Given the description of an element on the screen output the (x, y) to click on. 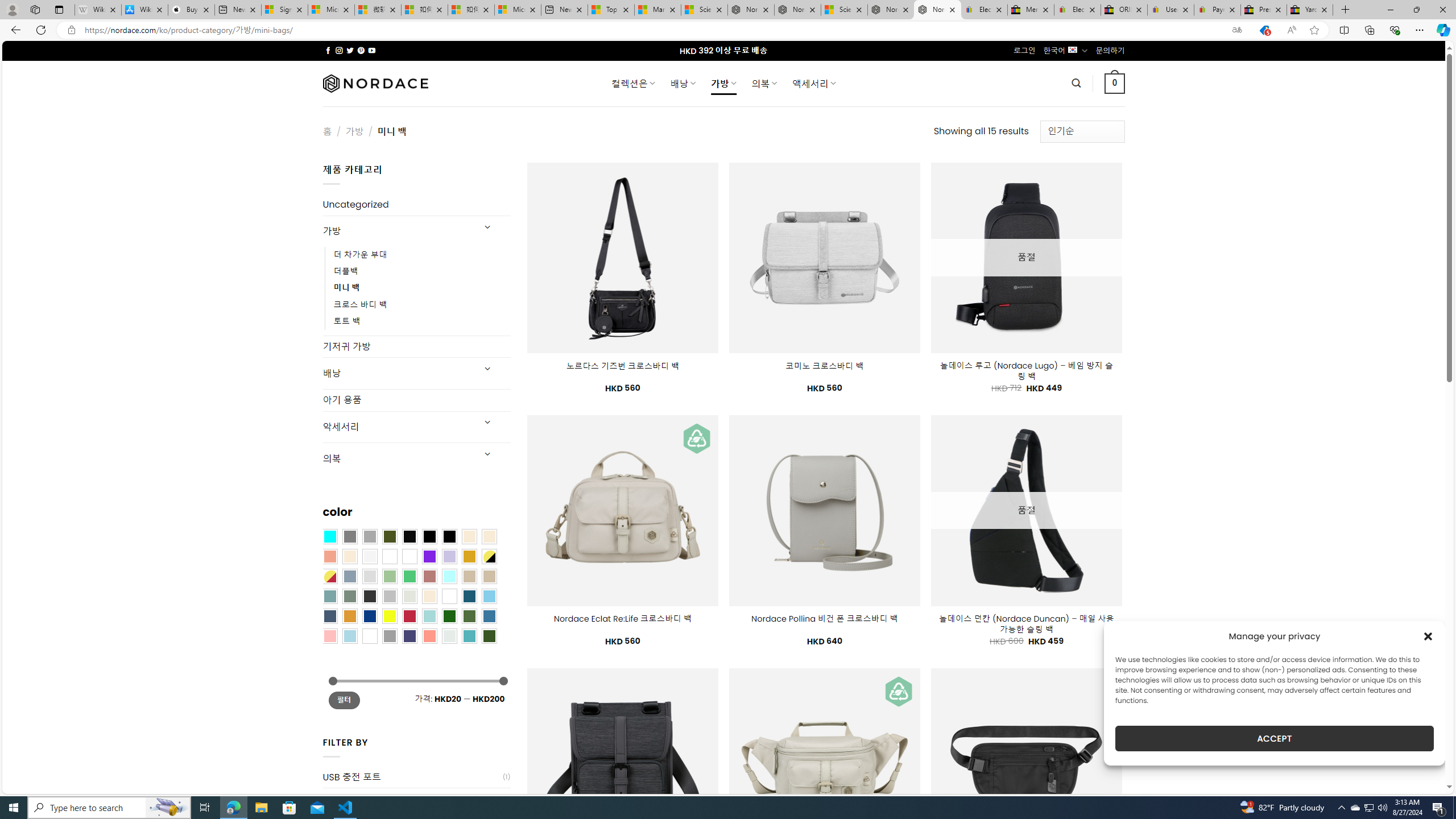
This site has coupons! Shopping in Microsoft Edge, 5 (1263, 29)
Uncategorized (416, 204)
  0   (1115, 83)
Marine life - MSN (656, 9)
